Given the description of an element on the screen output the (x, y) to click on. 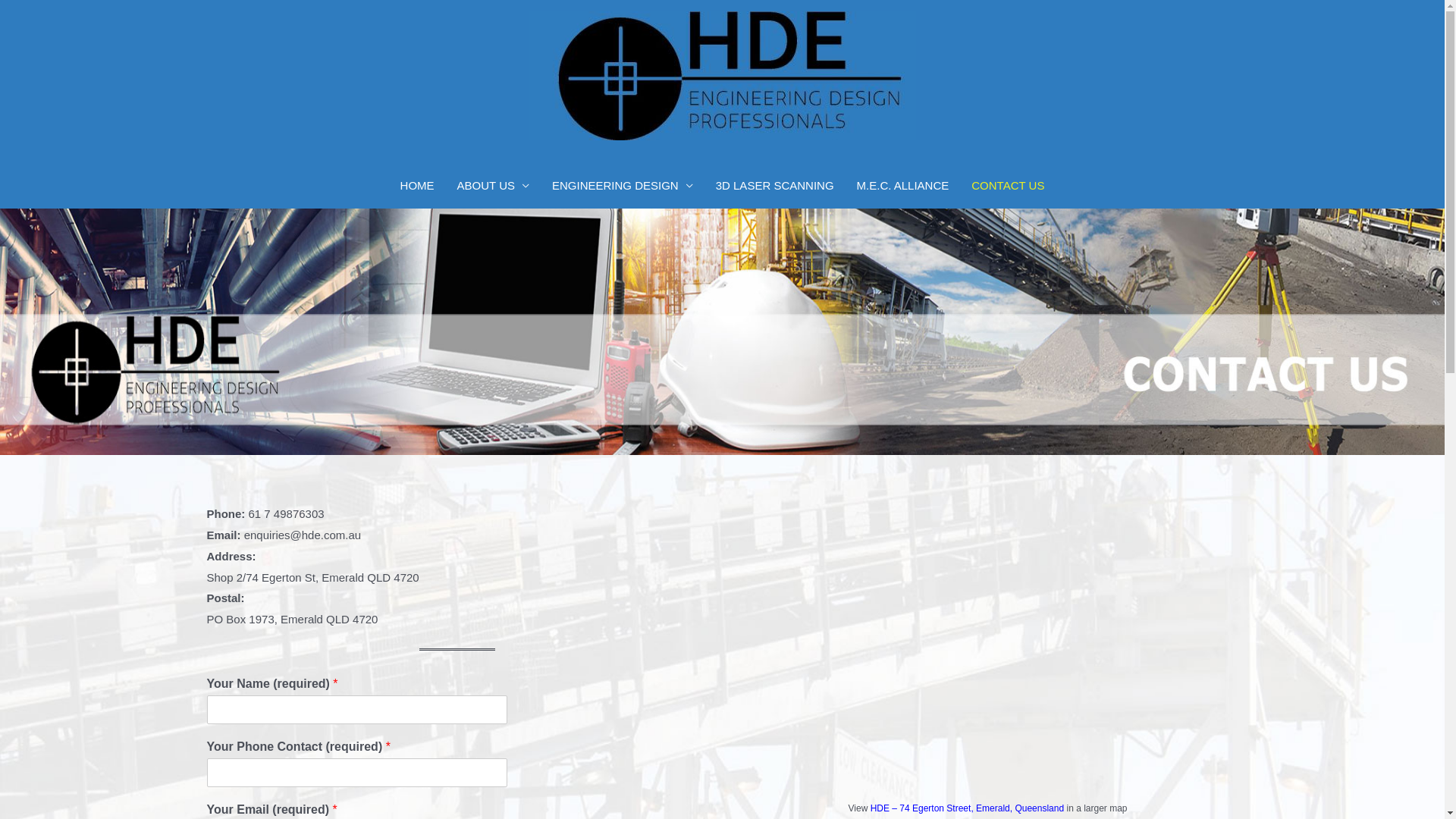
3D LASER SCANNING Element type: text (774, 185)
M.E.C. ALLIANCE Element type: text (902, 185)
CONTACT US Element type: text (1007, 185)
ABOUT US Element type: text (492, 185)
ENGINEERING DESIGN Element type: text (622, 185)
HOME Element type: text (417, 185)
